Given the description of an element on the screen output the (x, y) to click on. 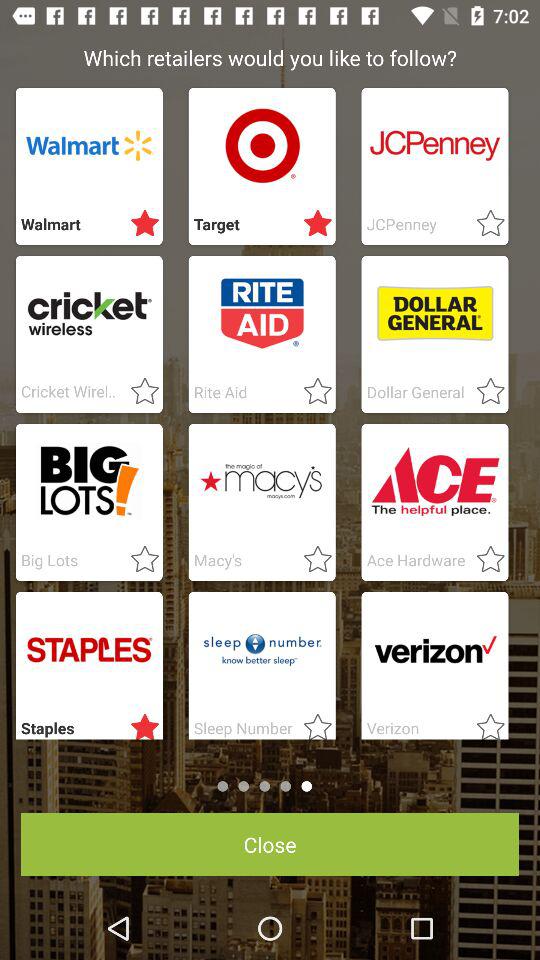
adding favorite star icon (139, 392)
